Given the description of an element on the screen output the (x, y) to click on. 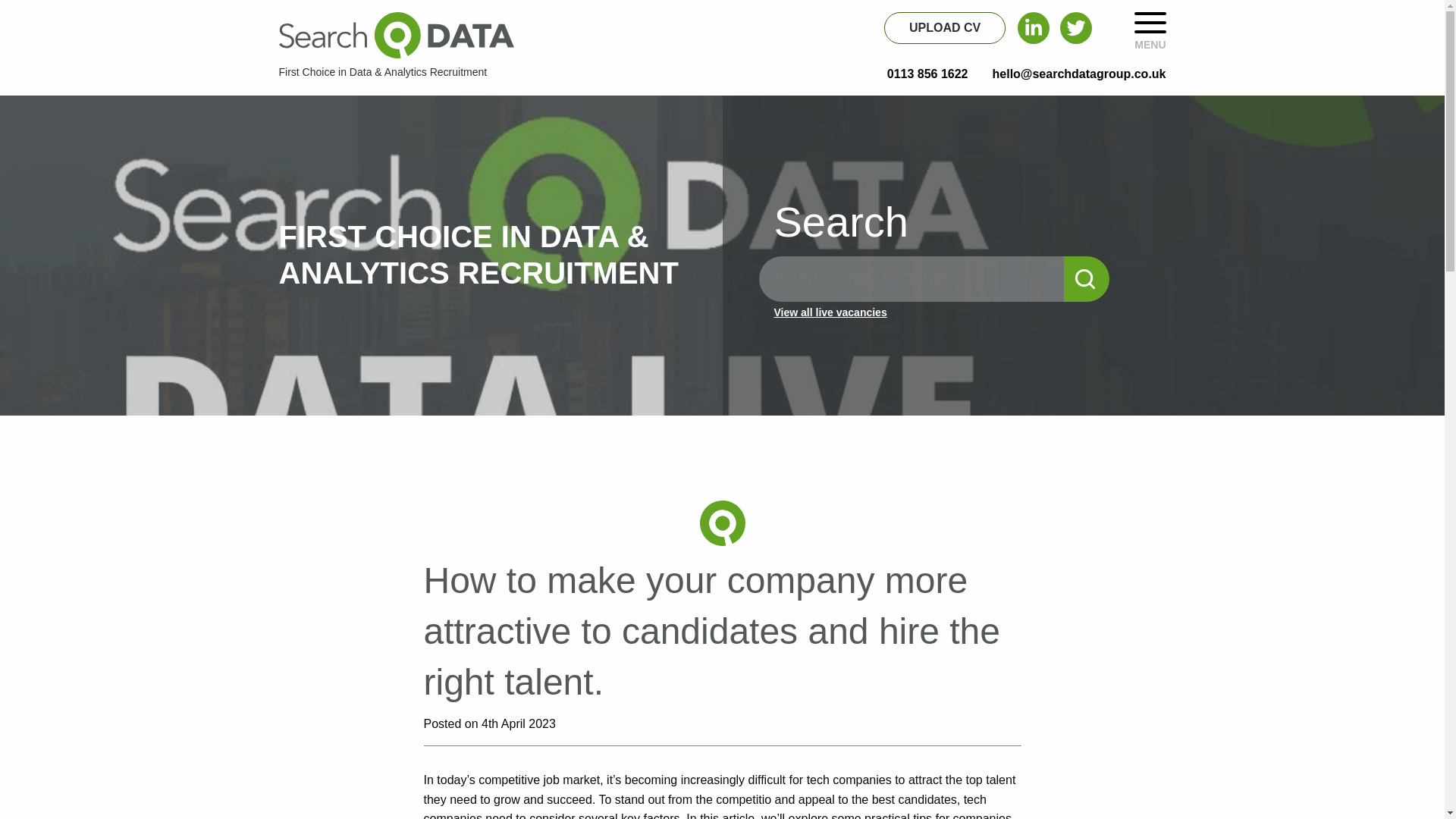
Submit (1086, 279)
0113 856 1622 (927, 74)
View all live vacancies (962, 312)
Submit (1086, 279)
UPLOAD CV (944, 28)
Submit (1086, 279)
MENU (1150, 30)
